Given the description of an element on the screen output the (x, y) to click on. 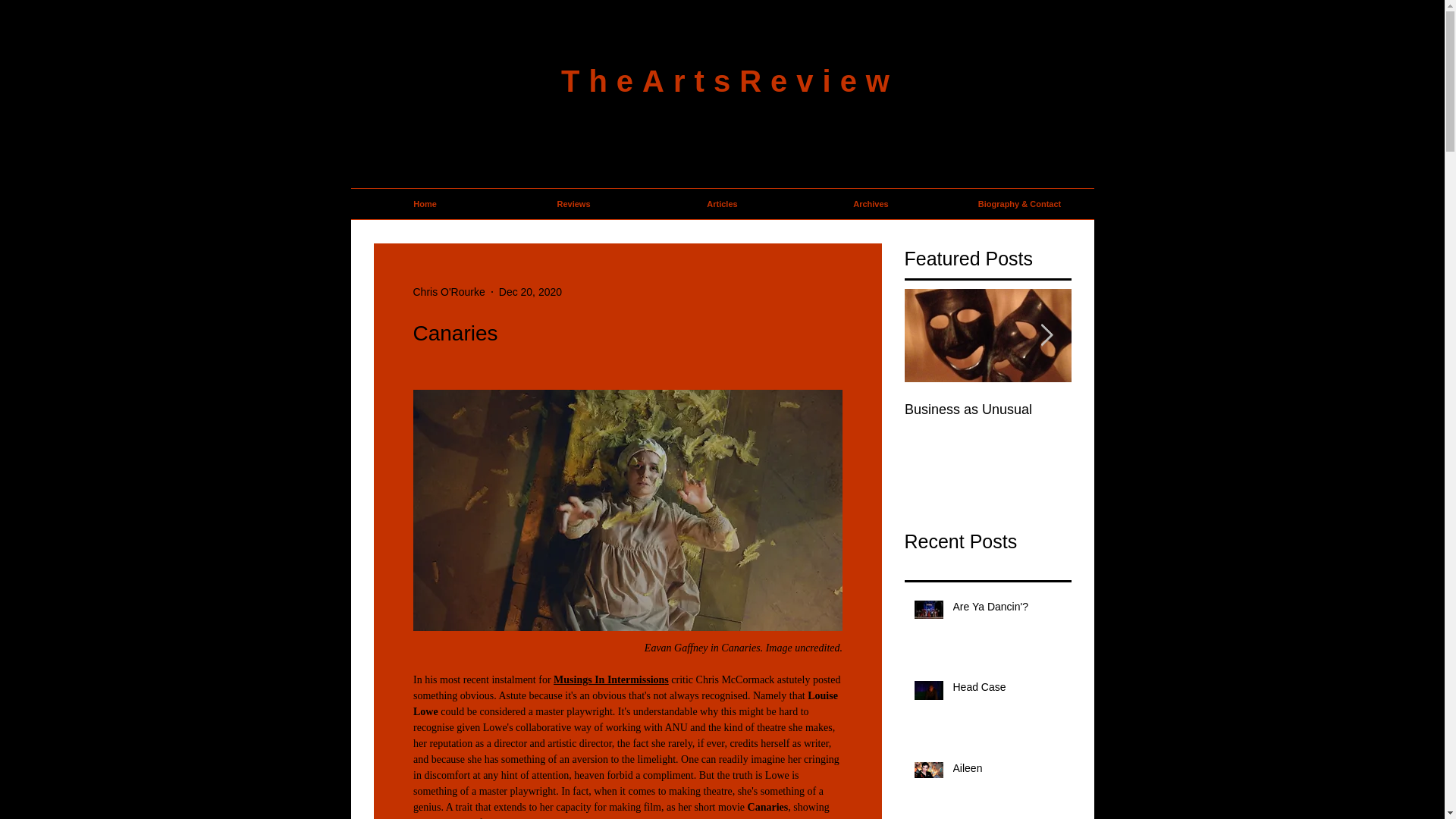
Musings In Intermission (608, 679)
Archives (870, 204)
TheArtsReview (729, 80)
Home (424, 204)
Are Ya Dancin'? (1006, 609)
Chris O'Rourke (448, 291)
Business as Unusual (1153, 409)
Reviews (573, 204)
Head Case (1006, 690)
Dec 20, 2020 (530, 291)
